Given the description of an element on the screen output the (x, y) to click on. 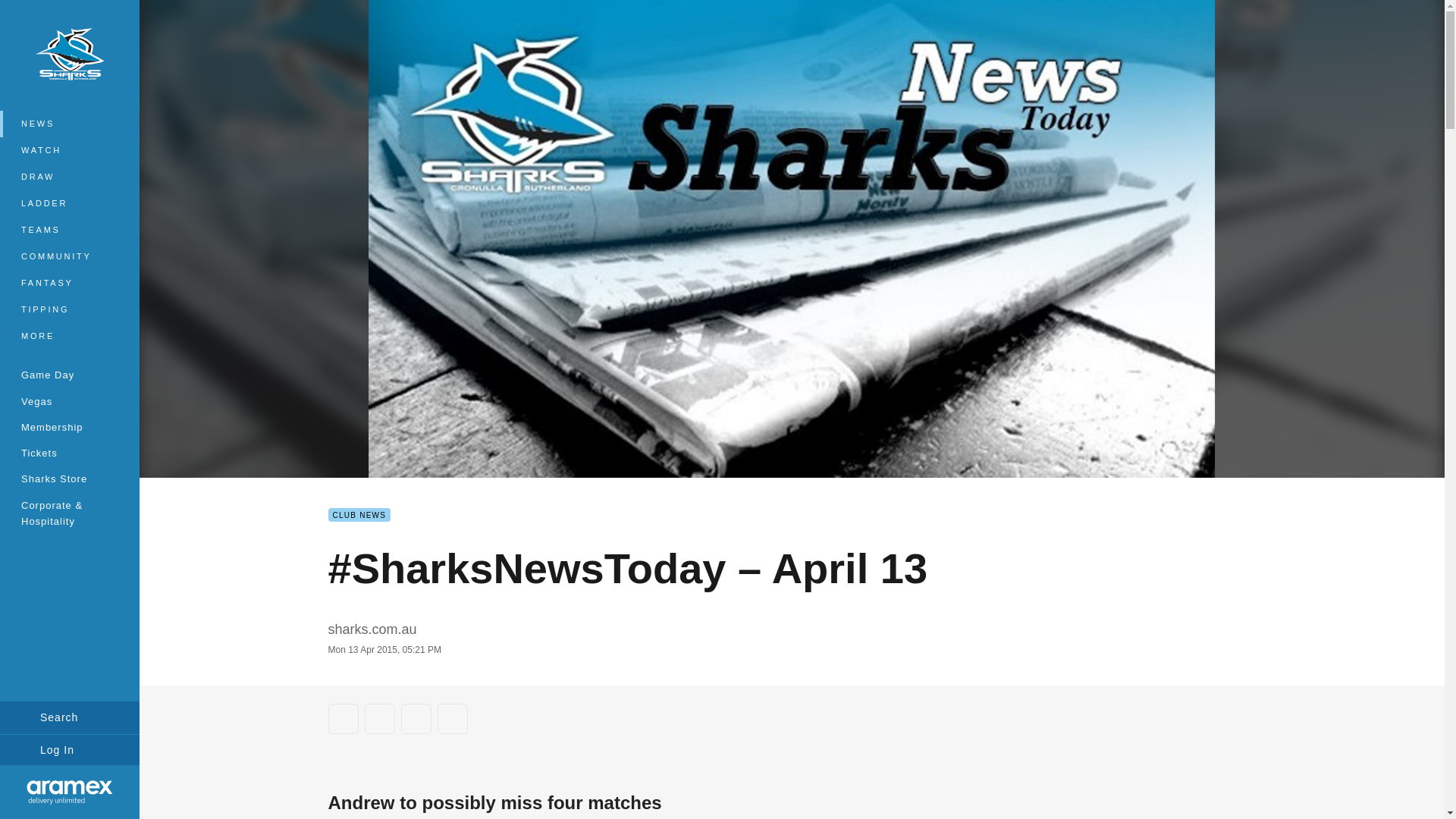
Sharks Store (69, 478)
Game Day (69, 374)
DRAW (69, 176)
Share via Facebook (342, 718)
Membership (69, 426)
Vegas (69, 401)
TIPPING (69, 309)
CLUB NEWS (358, 514)
Tickets (69, 452)
TEAMS (69, 230)
Share via Email (451, 718)
Search (69, 717)
FANTASY (69, 283)
Share via Reddit (415, 718)
LADDER (69, 203)
